Given the description of an element on the screen output the (x, y) to click on. 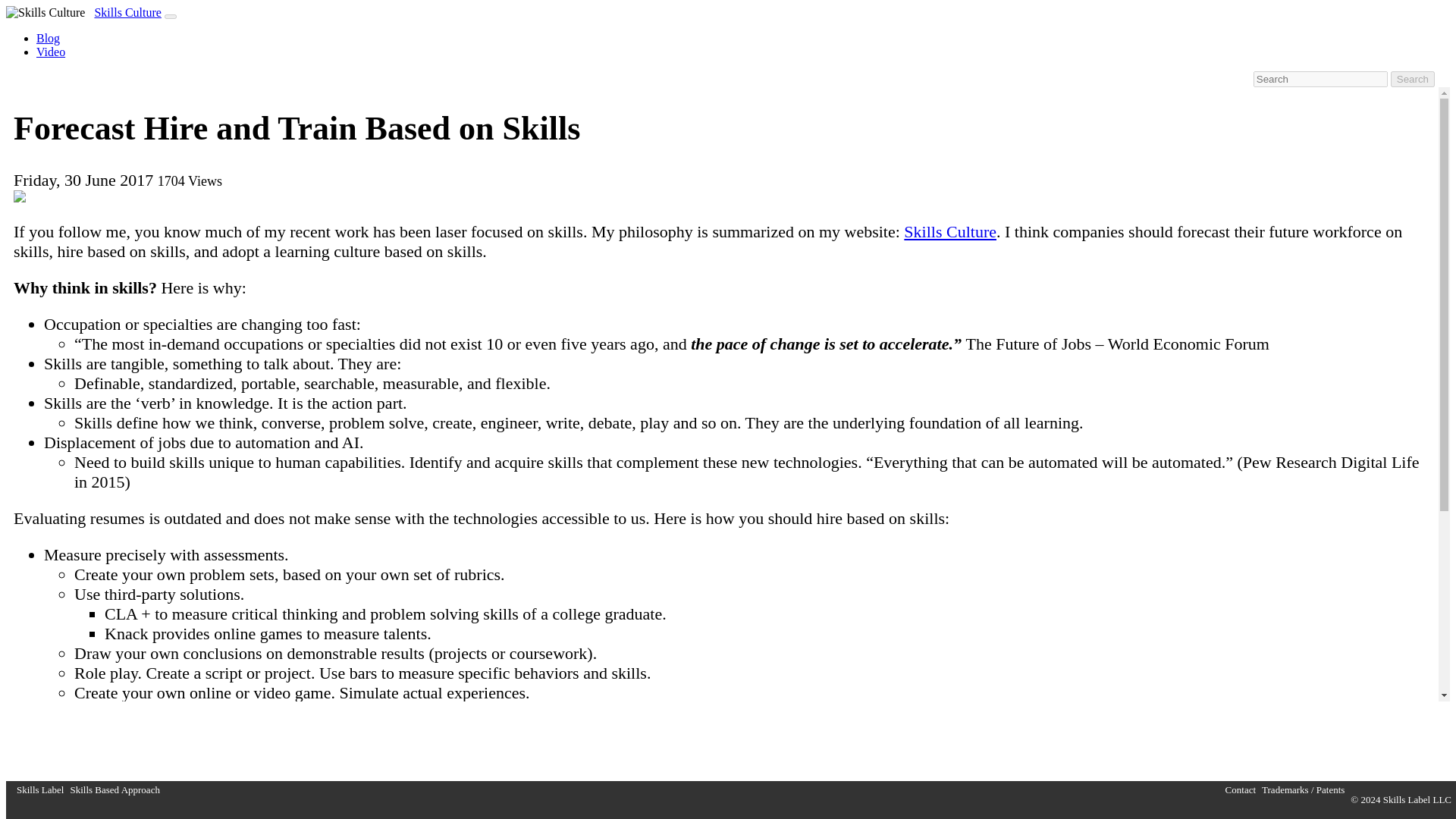
Search (1412, 78)
Skills Culture (127, 11)
Blog (47, 38)
Video (50, 51)
Skills Culture (44, 12)
Skills Culture (949, 230)
